Given the description of an element on the screen output the (x, y) to click on. 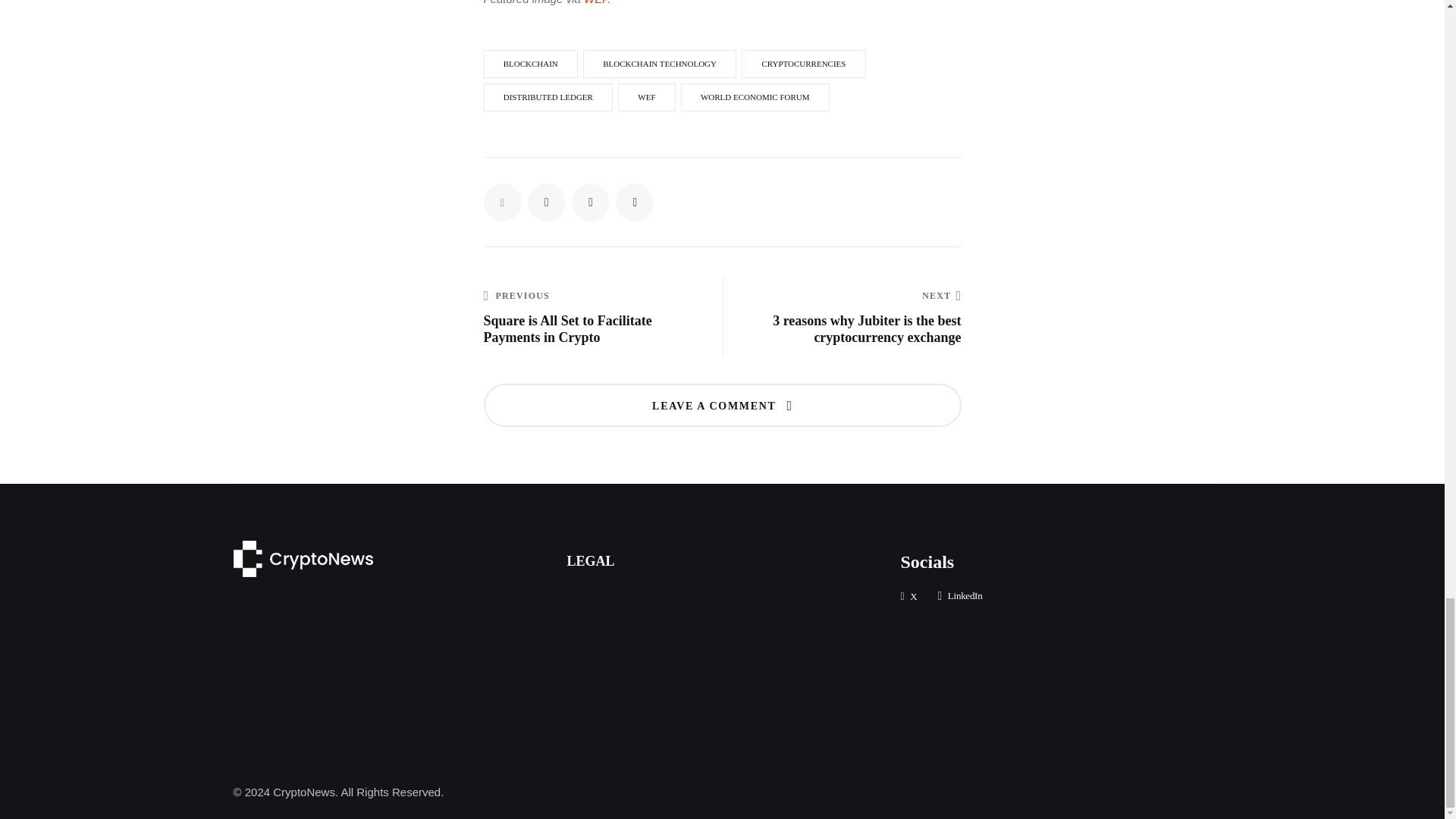
WEF (595, 2)
WORLD ECONOMIC FORUM (755, 97)
DISTRIBUTED LEDGER (547, 97)
BLOCKCHAIN (530, 63)
BLOCKCHAIN TECHNOLOGY (659, 63)
CRYPTOCURRENCIES (802, 63)
WEF (646, 97)
Copy URL to clipboard (634, 202)
